Given the description of an element on the screen output the (x, y) to click on. 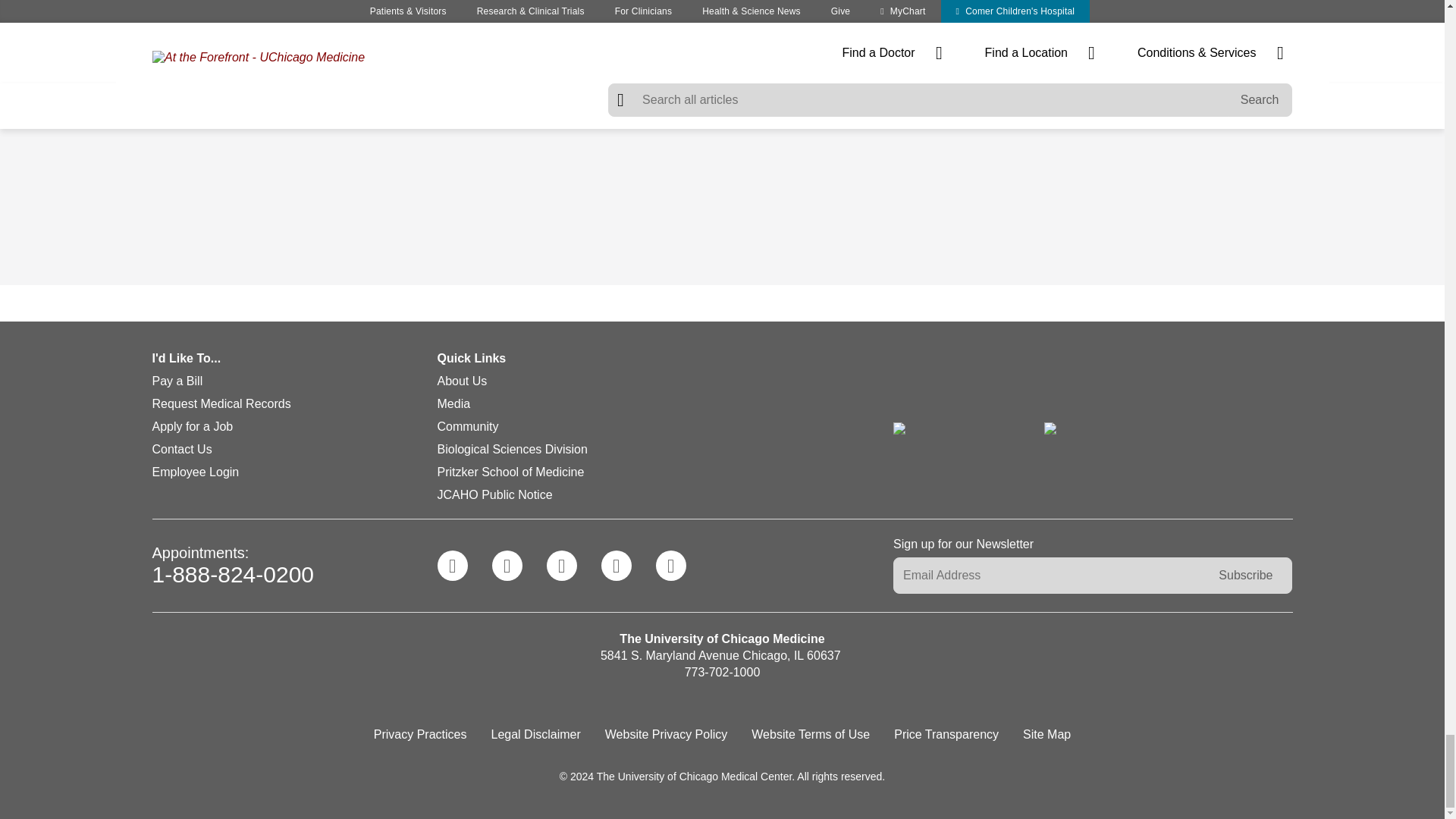
Request Medical Records (220, 404)
Contact Us (181, 449)
Pay a Bill (176, 381)
Apply for a Job (191, 426)
I'd Like To... (293, 361)
